Given the description of an element on the screen output the (x, y) to click on. 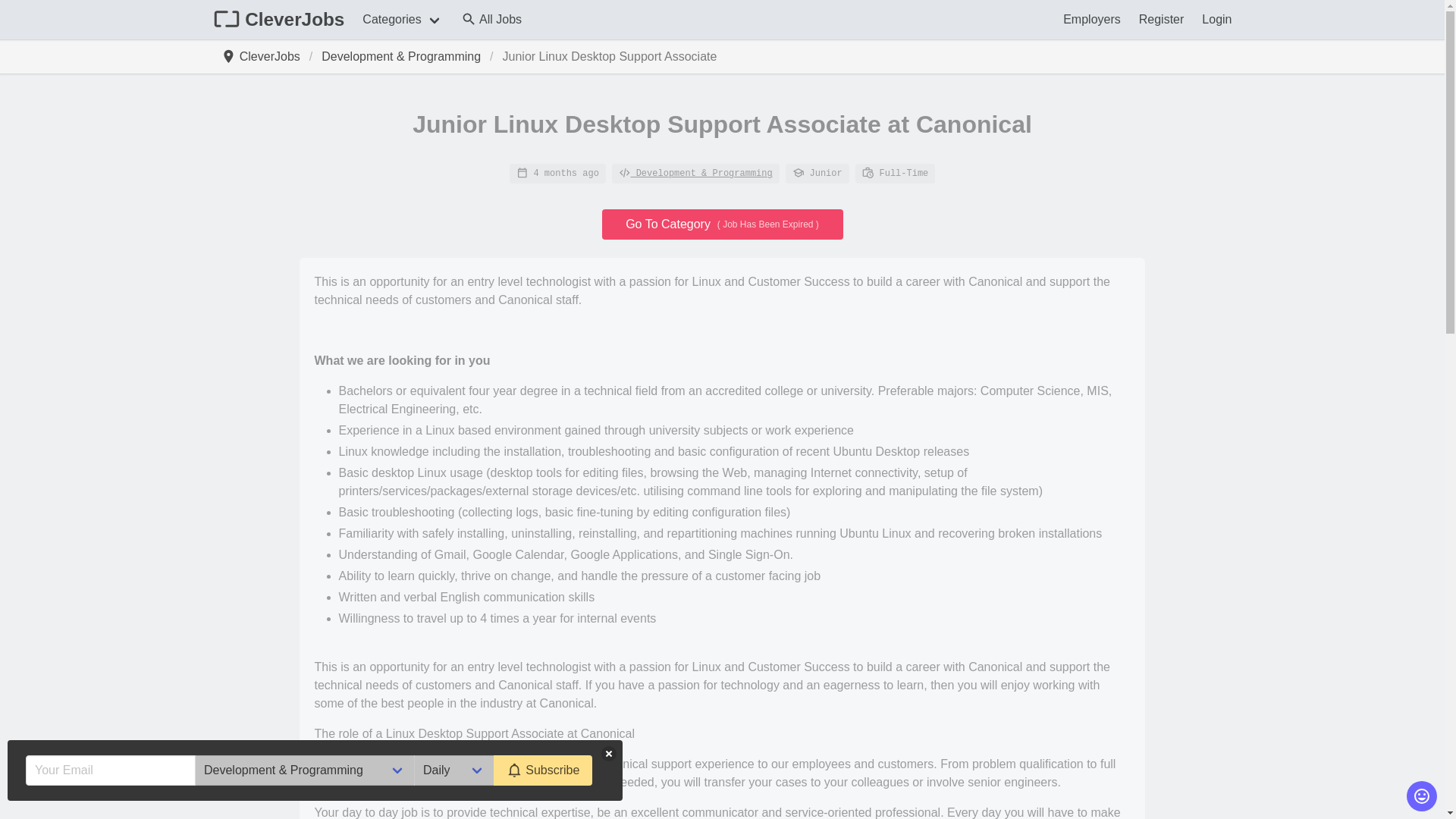
Register (1161, 19)
 CleverJobs (263, 56)
Employers (1091, 19)
Login (1216, 19)
All Jobs (491, 19)
Categories (402, 19)
Feedback (1421, 796)
Junior Linux Desktop Support Associate (609, 56)
Home Page (263, 56)
CleverJobs (278, 19)
